Given the description of an element on the screen output the (x, y) to click on. 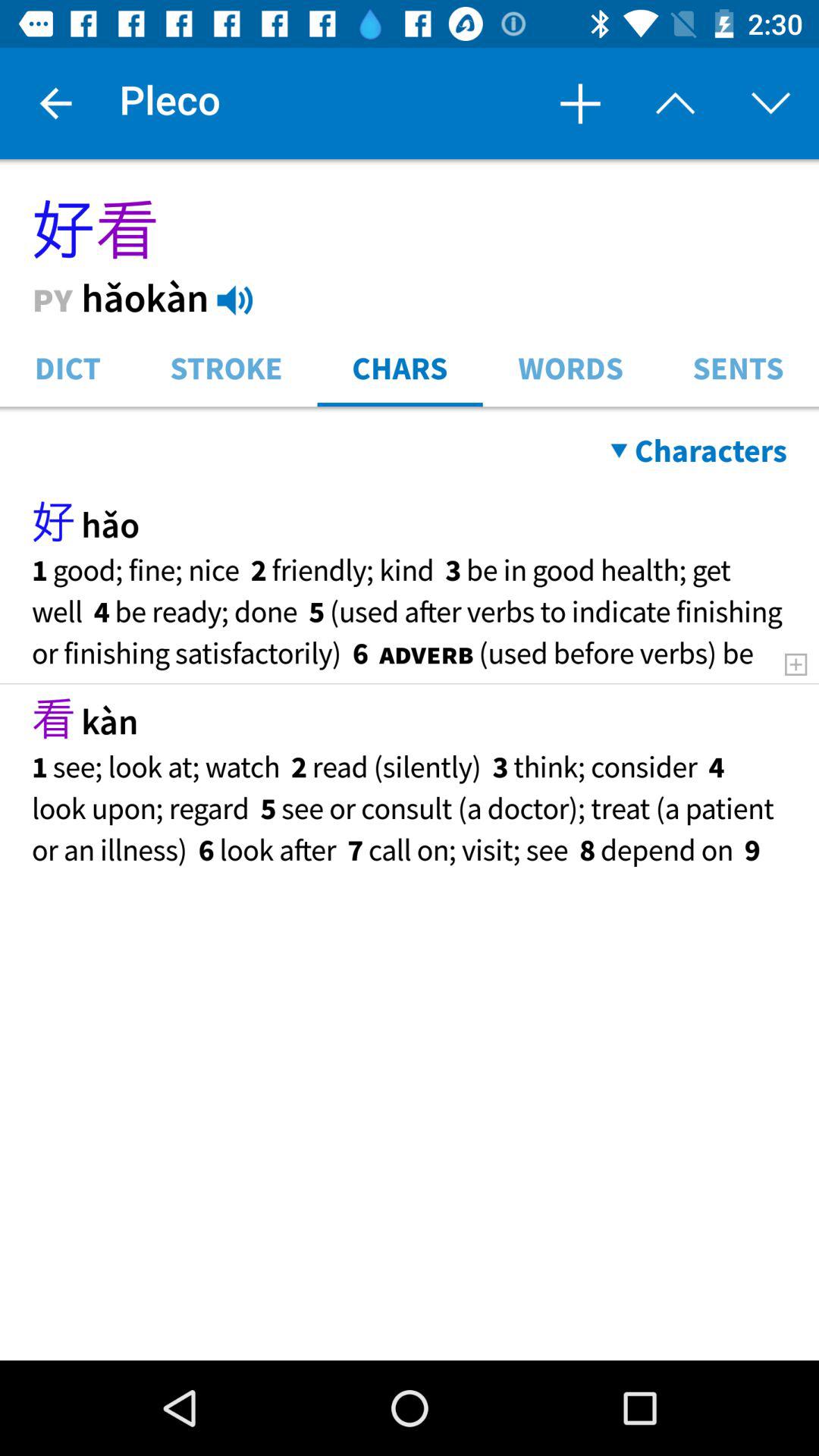
open the item to the left of the words icon (399, 366)
